Given the description of an element on the screen output the (x, y) to click on. 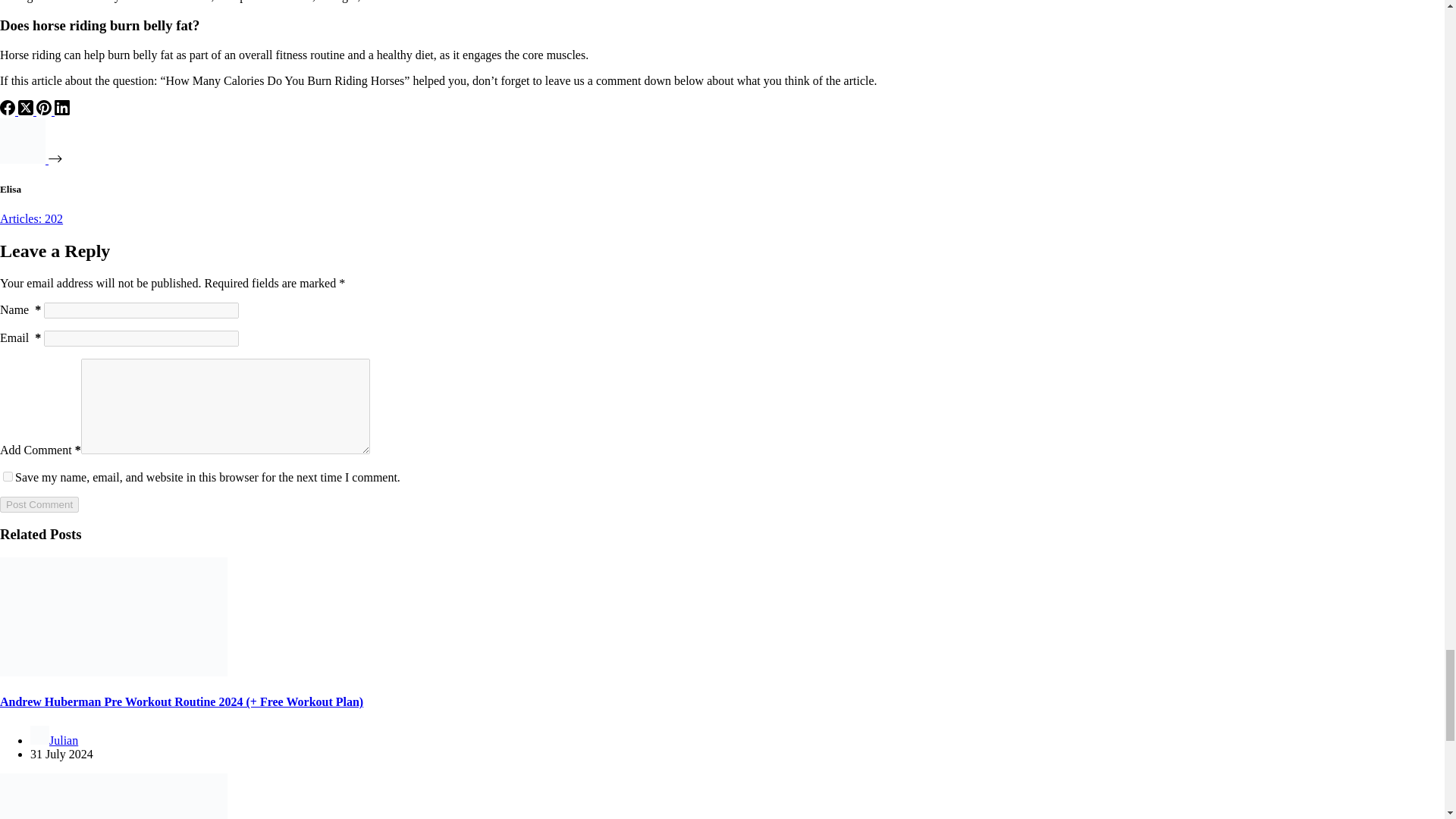
yes (7, 476)
